Given the description of an element on the screen output the (x, y) to click on. 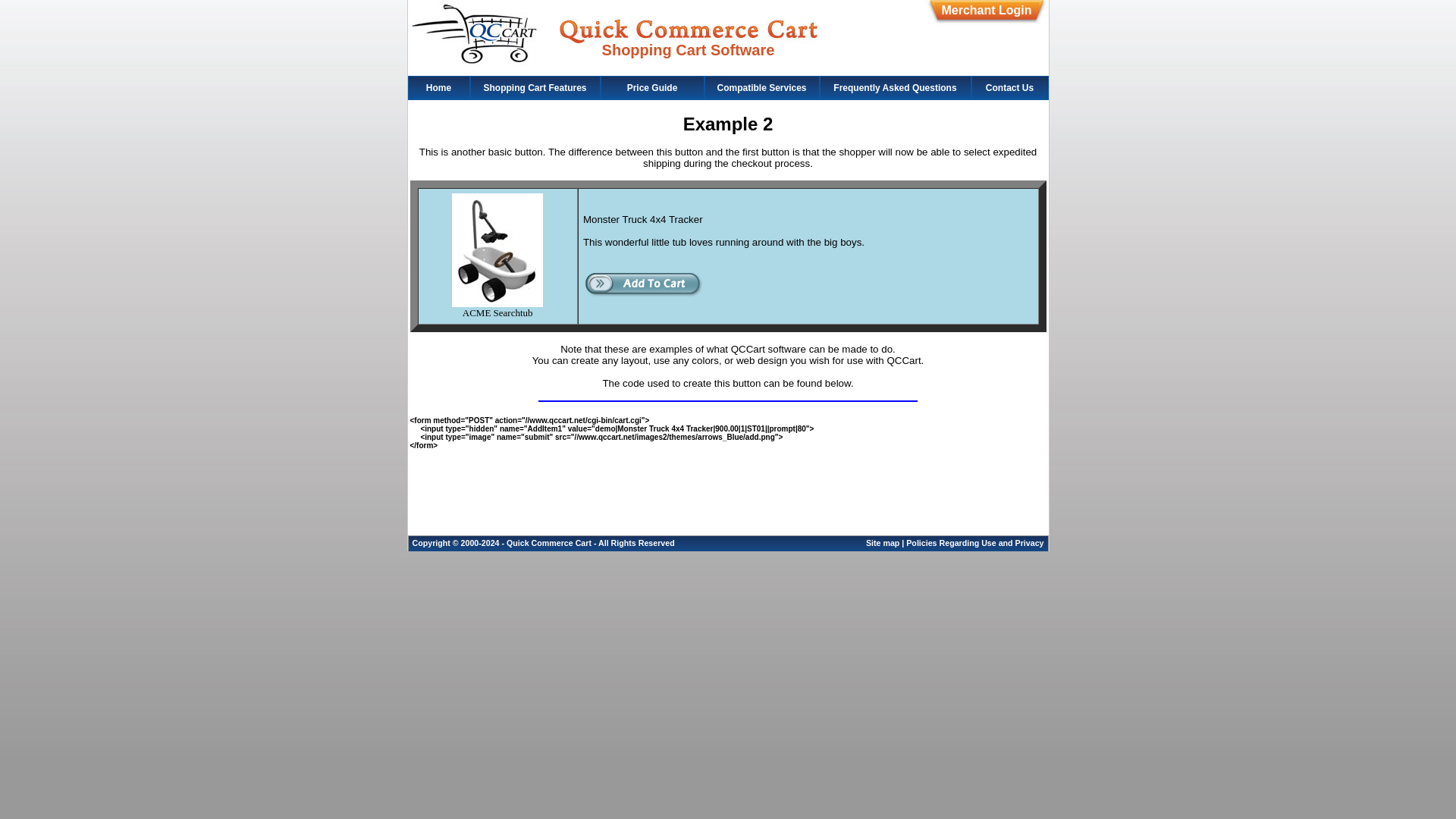
Home (439, 85)
Site map (882, 542)
Policies Regarding Use and Privacy (974, 542)
Merchant Login (985, 10)
Compatible Services (761, 85)
Price Guide (652, 85)
Contact Us (1008, 85)
Shopping Cart Features (534, 85)
Frequently Asked Questions (894, 85)
